Given the description of an element on the screen output the (x, y) to click on. 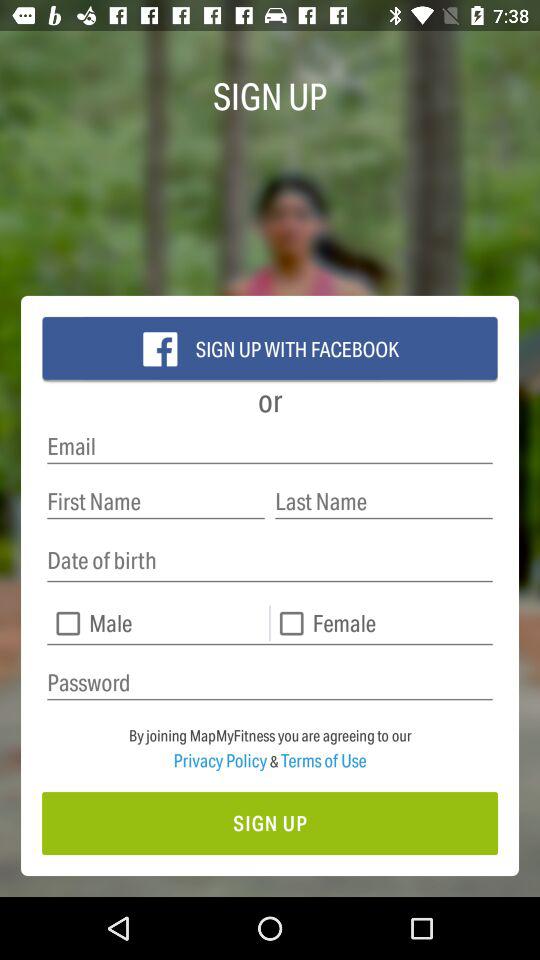
last name (384, 501)
